Given the description of an element on the screen output the (x, y) to click on. 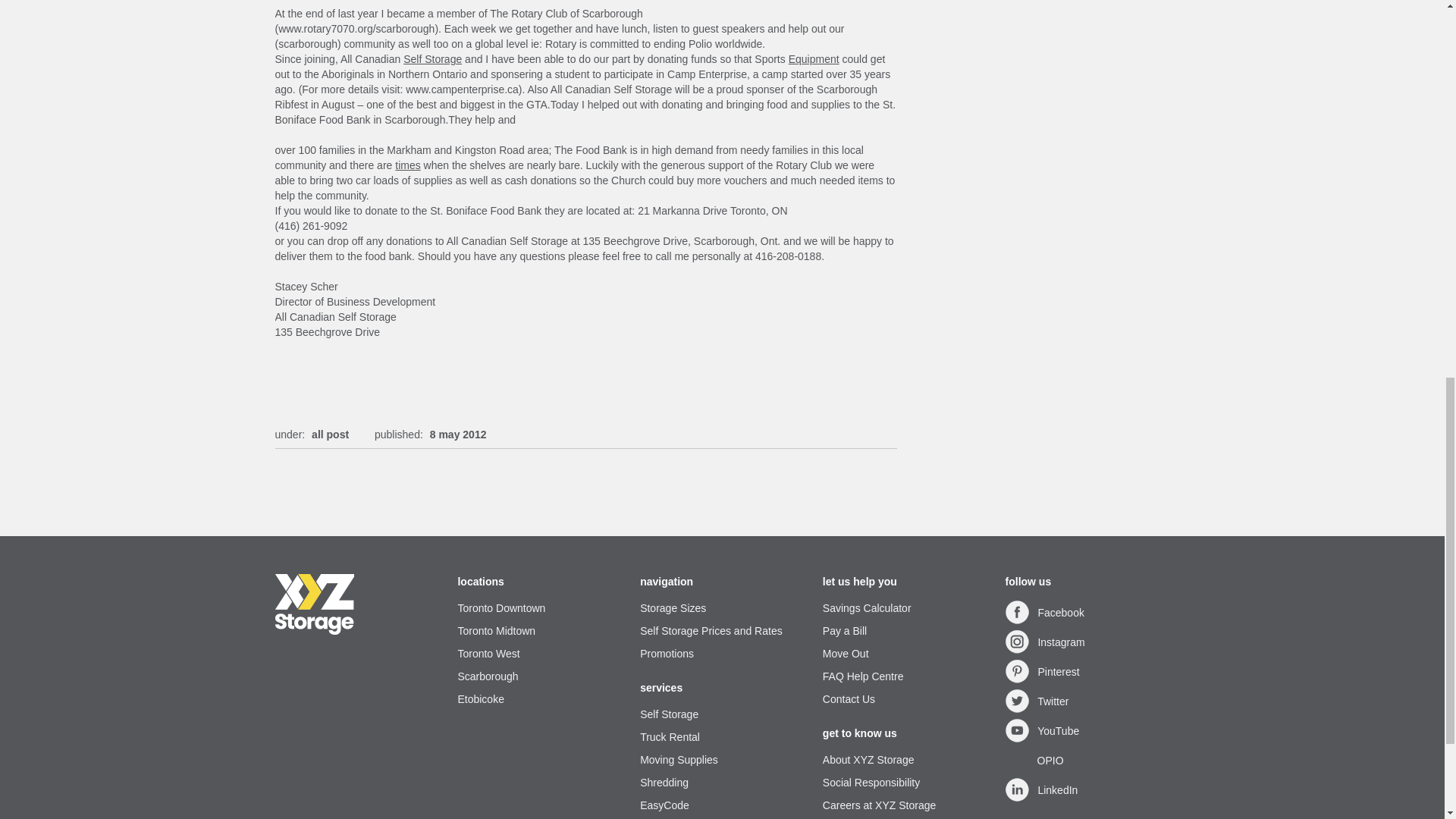
Self Storage (432, 59)
times (407, 164)
Equipment (814, 59)
Toronto Midtown (539, 630)
Toronto Downtown (539, 607)
Toronto West (539, 653)
all post (330, 434)
locations (539, 581)
